Given the description of an element on the screen output the (x, y) to click on. 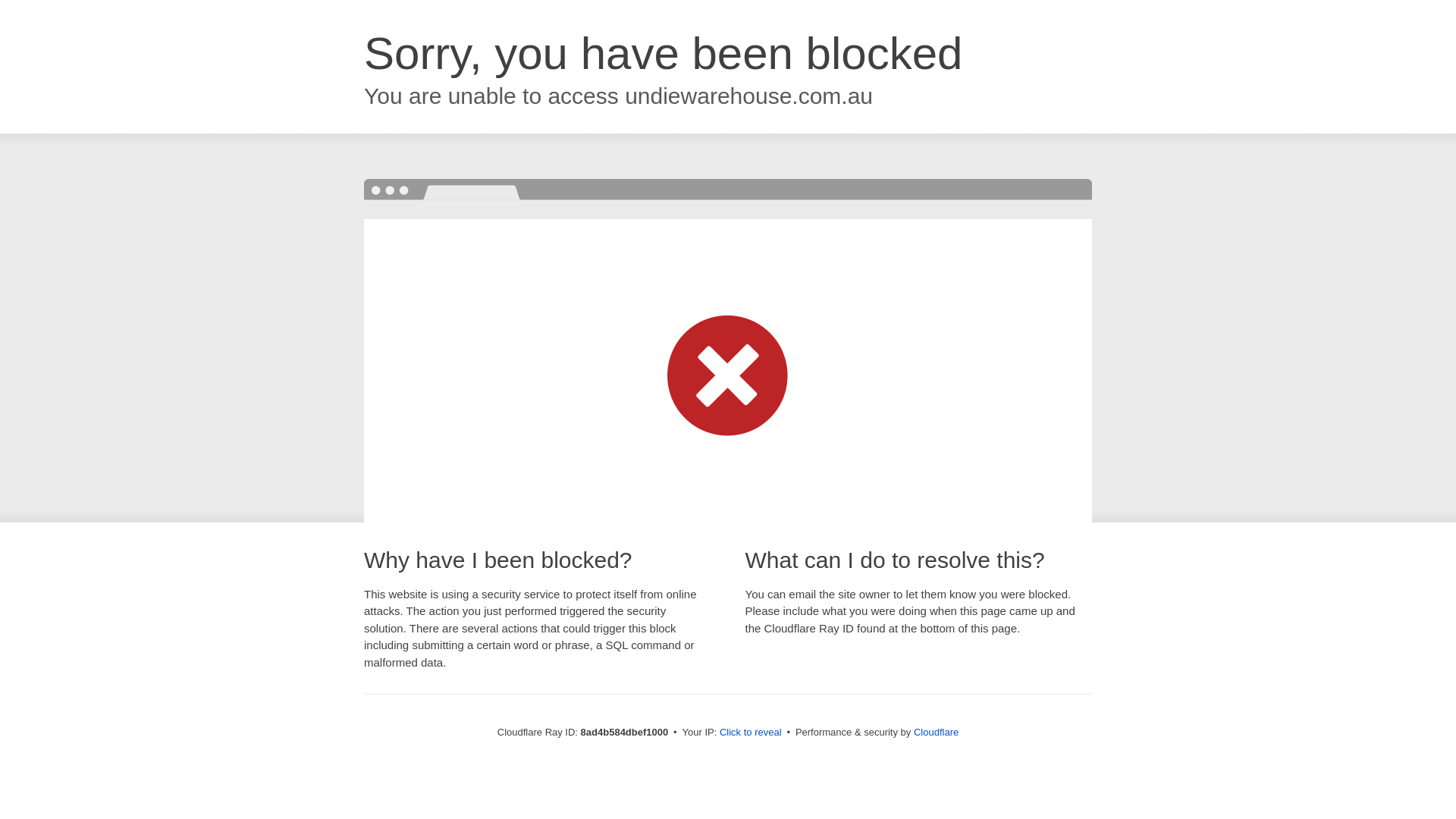
Cloudflare (936, 731)
Click to reveal (750, 732)
